Given the description of an element on the screen output the (x, y) to click on. 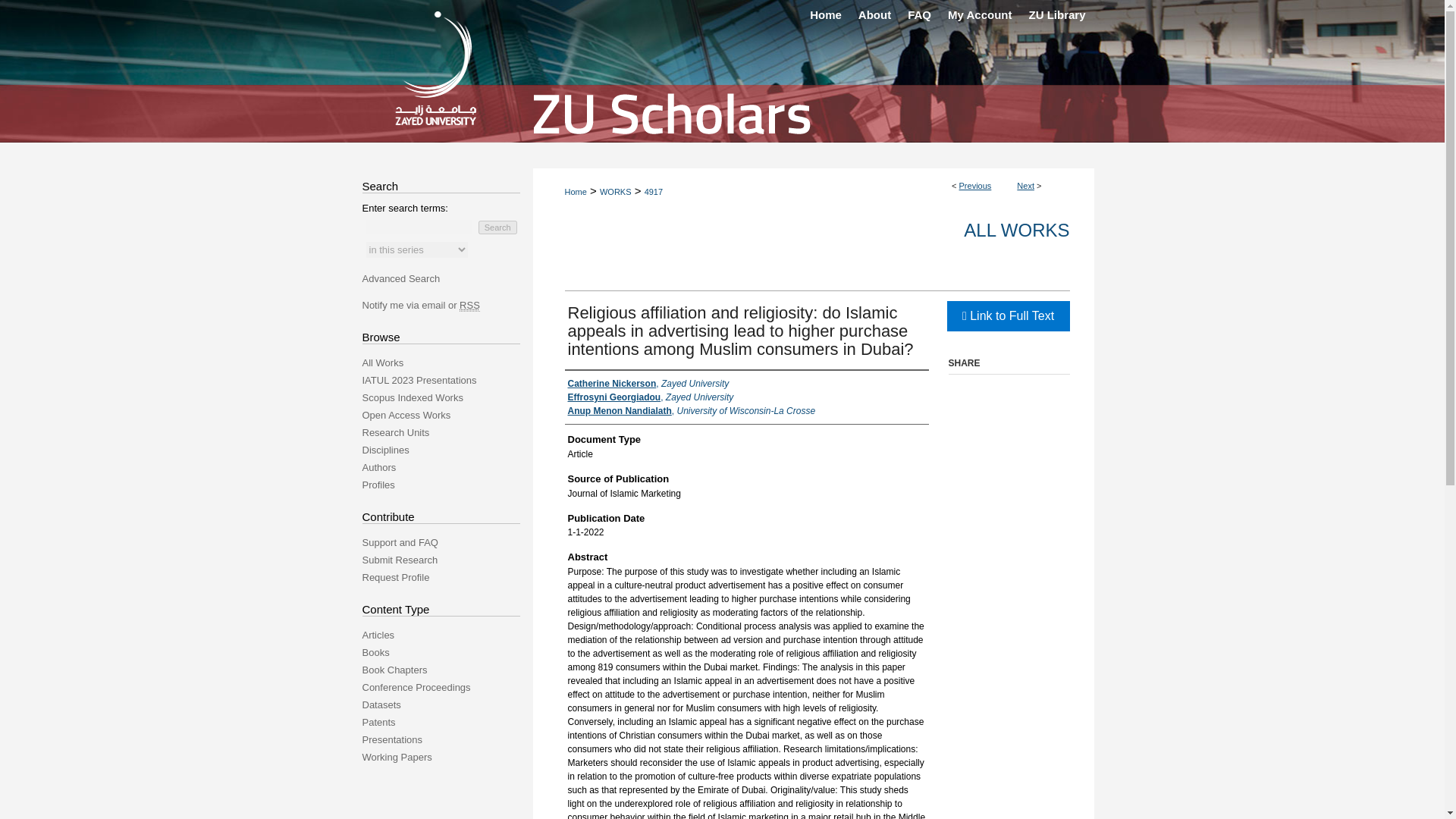
Advanced Search (401, 278)
Home (575, 191)
Effrosyni Georgiadou, Zayed University (650, 397)
My Account (979, 15)
Home (826, 15)
Search (497, 227)
Notify me via email or RSS (447, 305)
WORKS (615, 191)
Home (826, 15)
Search (497, 227)
